Given the description of an element on the screen output the (x, y) to click on. 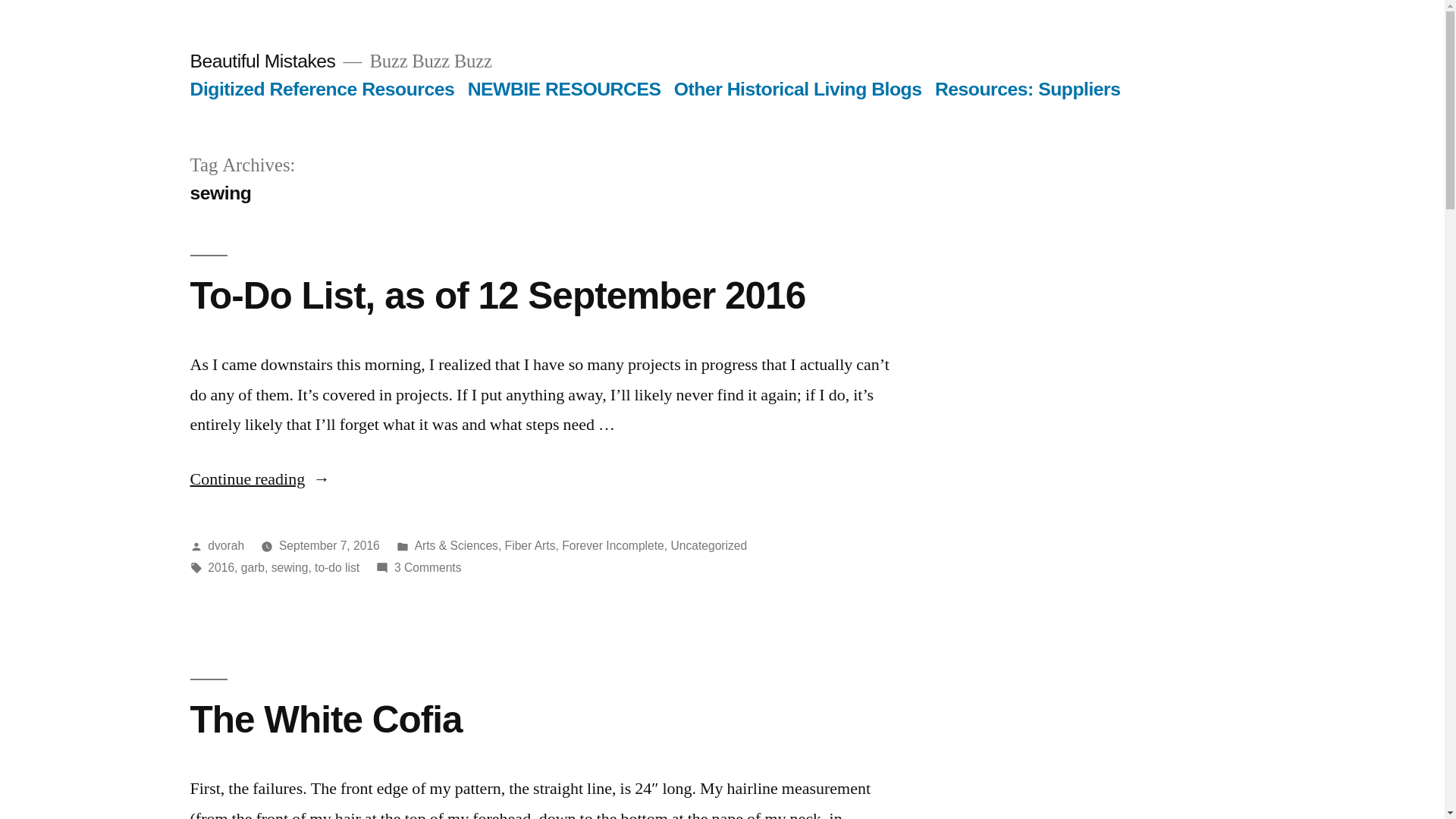
Fiber Arts Element type: text (530, 545)
dvorah Element type: text (225, 545)
Resources: Suppliers Element type: text (1027, 88)
Digitized Reference Resources Element type: text (321, 88)
The White Cofia Element type: text (325, 719)
Beautiful Mistakes Element type: text (262, 60)
sewing Element type: text (289, 567)
2016 Element type: text (220, 567)
NEWBIE RESOURCES Element type: text (564, 88)
September 7, 2016 Element type: text (329, 545)
Uncategorized Element type: text (708, 545)
Forever Incomplete Element type: text (612, 545)
3 Comments
on To-Do List, as of 12 September 2016 Element type: text (427, 567)
Arts & Sciences Element type: text (456, 545)
To-Do List, as of 12 September 2016 Element type: text (497, 295)
Other Historical Living Blogs Element type: text (798, 88)
garb Element type: text (252, 567)
to-do list Element type: text (336, 567)
